Given the description of an element on the screen output the (x, y) to click on. 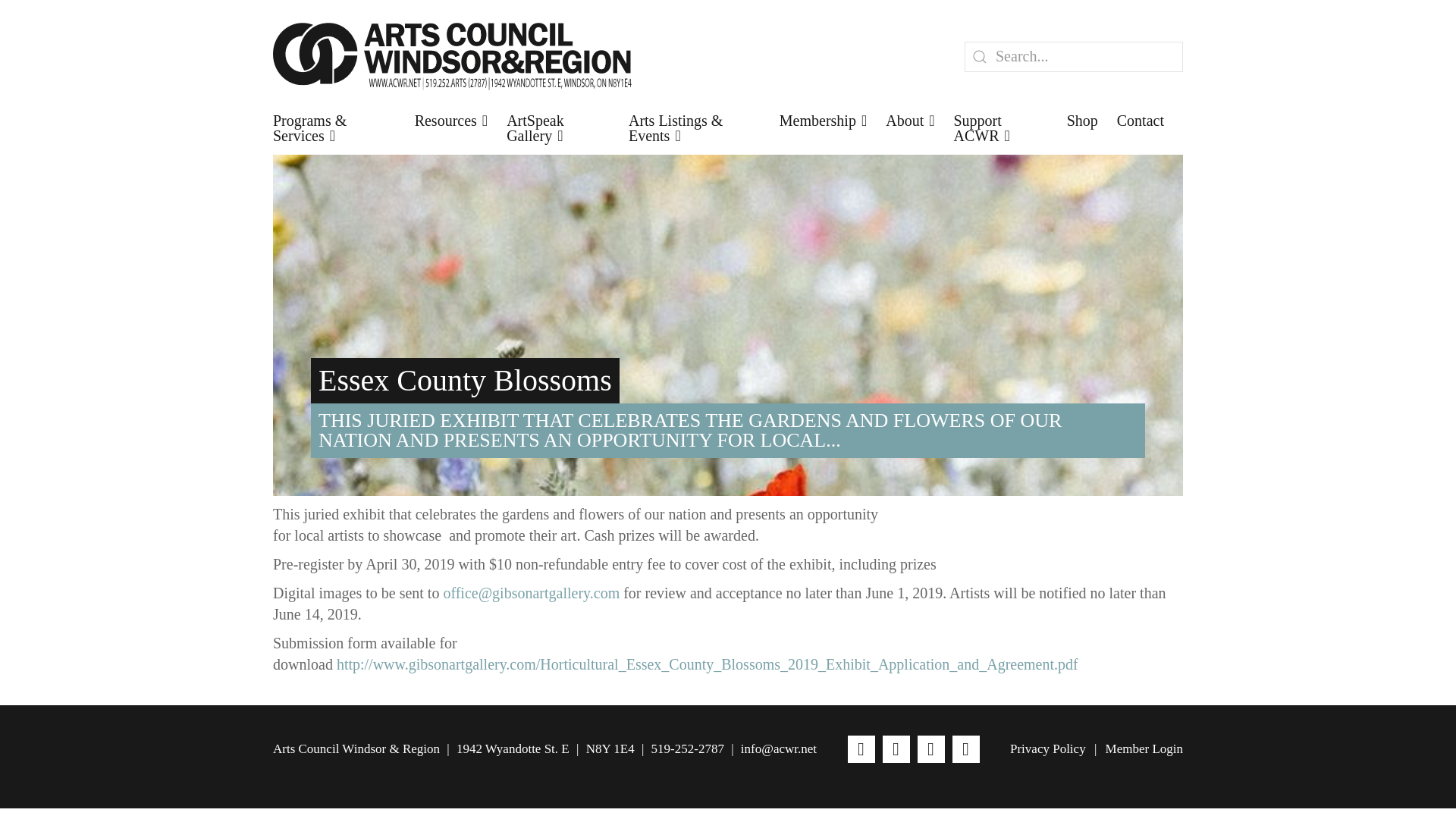
ArtSpeak Gallery (558, 127)
Support ACWR (1000, 127)
Resources (450, 120)
Membership (822, 120)
About (909, 120)
